Given the description of an element on the screen output the (x, y) to click on. 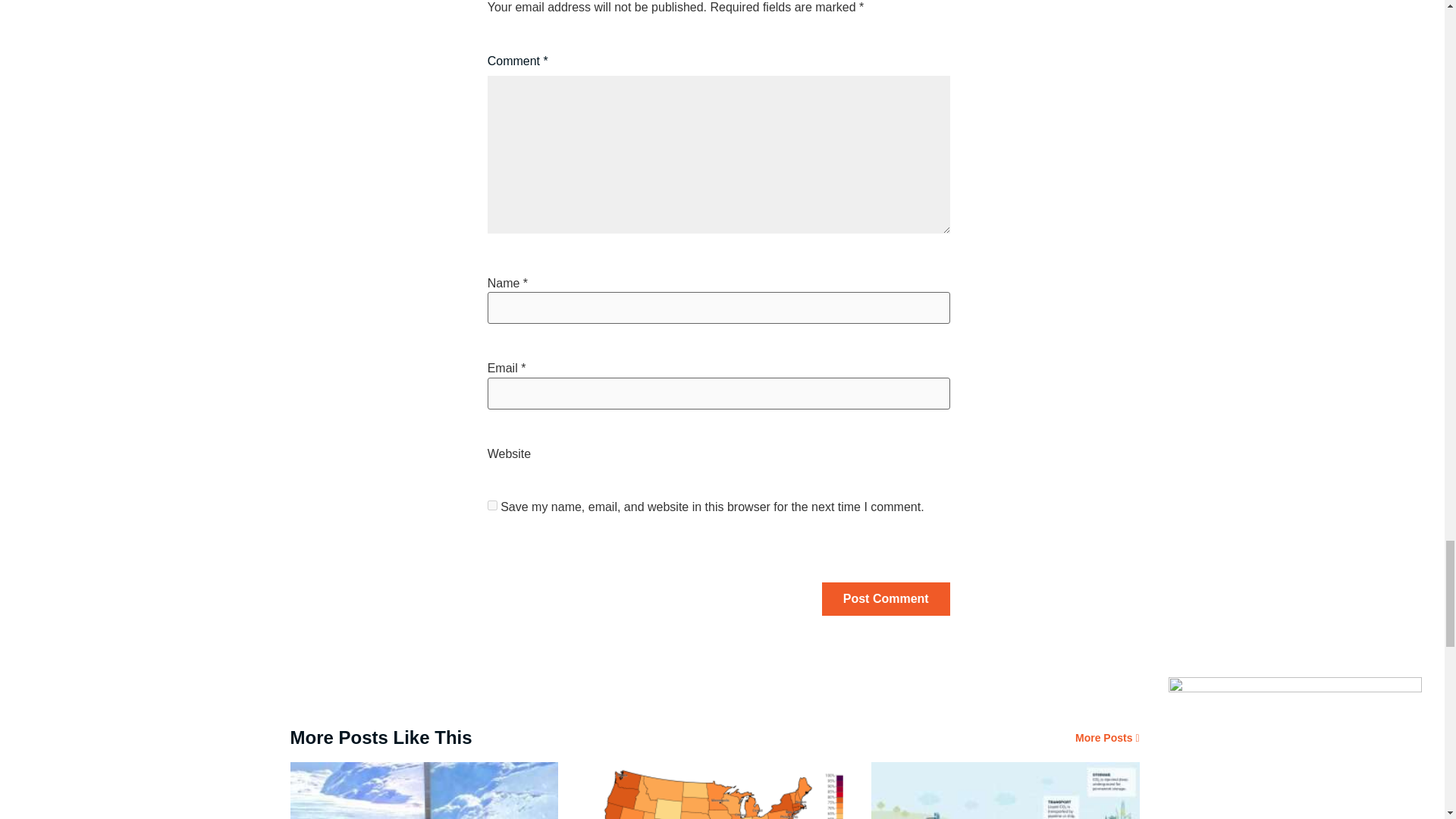
Post Comment (886, 598)
More Posts (1106, 737)
yes (492, 505)
Post Comment (886, 598)
